Given the description of an element on the screen output the (x, y) to click on. 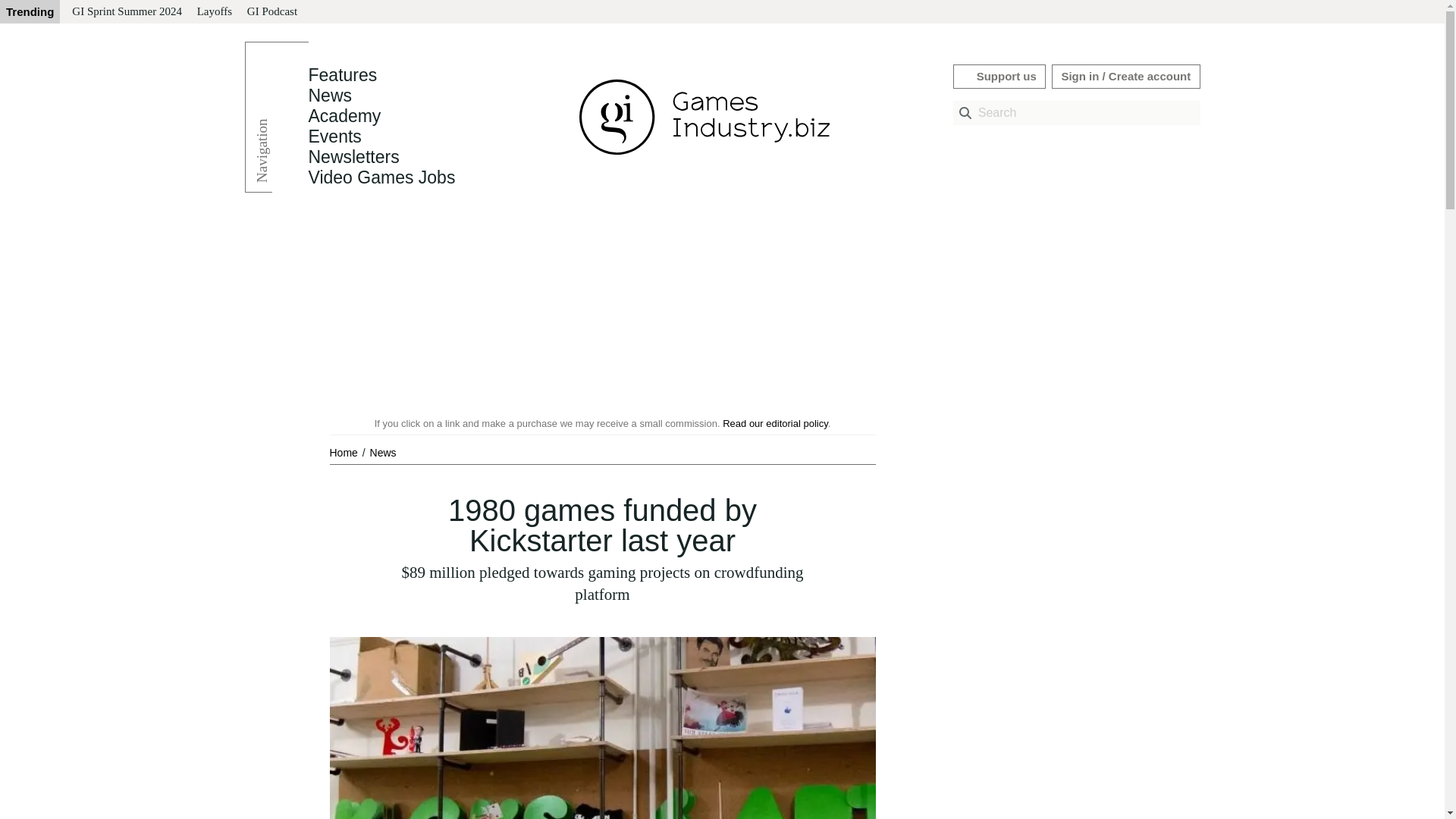
GI Podcast (271, 11)
Events (334, 136)
Support us (999, 75)
Newsletters (352, 157)
Read our editorial policy (775, 423)
News (329, 95)
News (382, 452)
Video Games Jobs (380, 177)
News (382, 452)
GI Sprint Summer 2024 (126, 11)
Home (344, 452)
News (329, 95)
Academy (343, 116)
Newsletters (352, 157)
Video Games Jobs (380, 177)
